Given the description of an element on the screen output the (x, y) to click on. 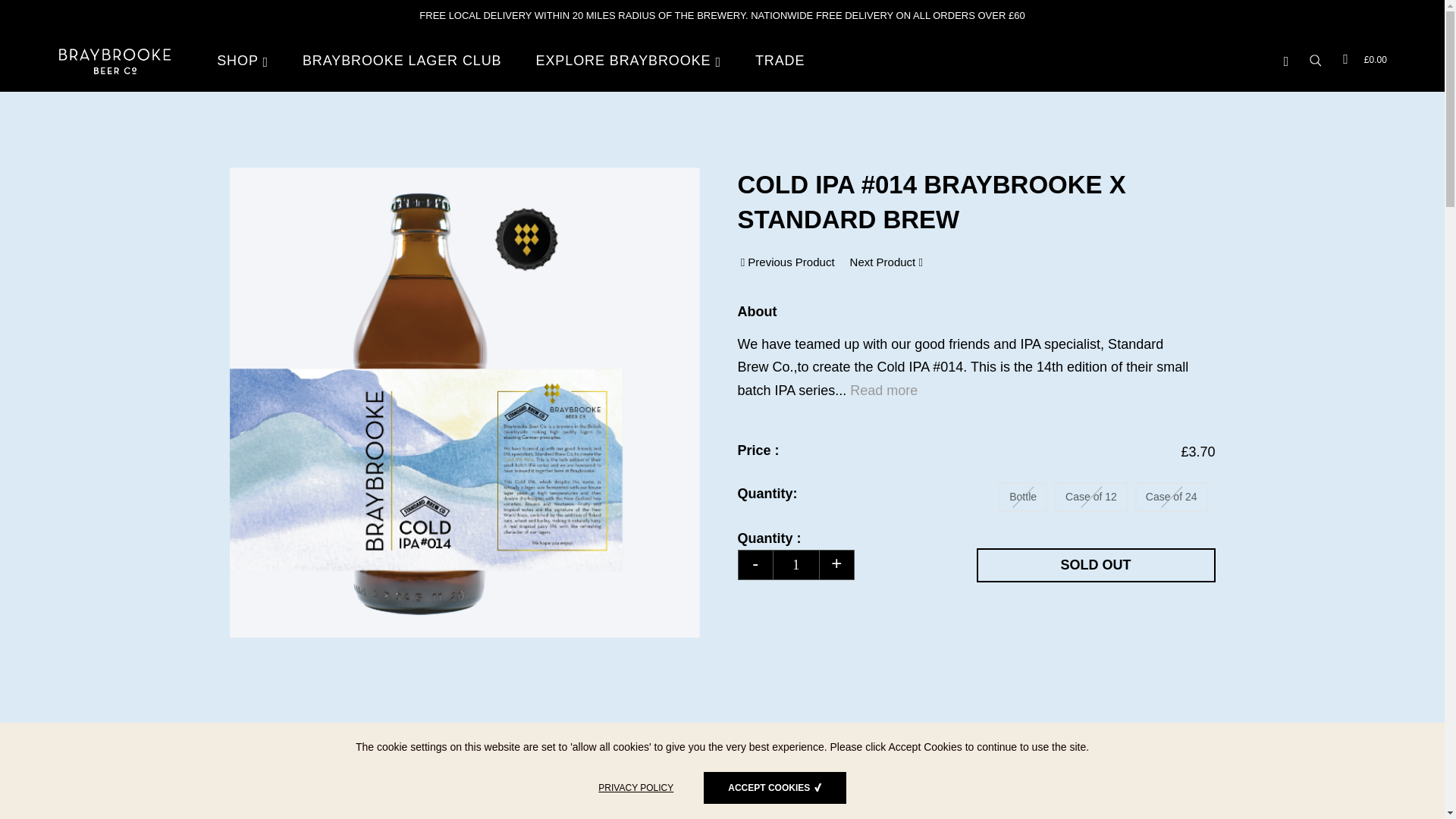
EXPLORE BRAYBROOKE (628, 60)
SHOP (249, 60)
Previous Product (785, 261)
My Account (1286, 61)
BRAYBROOKE LAGER CLUB (401, 60)
Read more (883, 390)
SOLD OUT (1095, 564)
1 (795, 564)
Next Product (886, 261)
TRADE (780, 60)
